Given the description of an element on the screen output the (x, y) to click on. 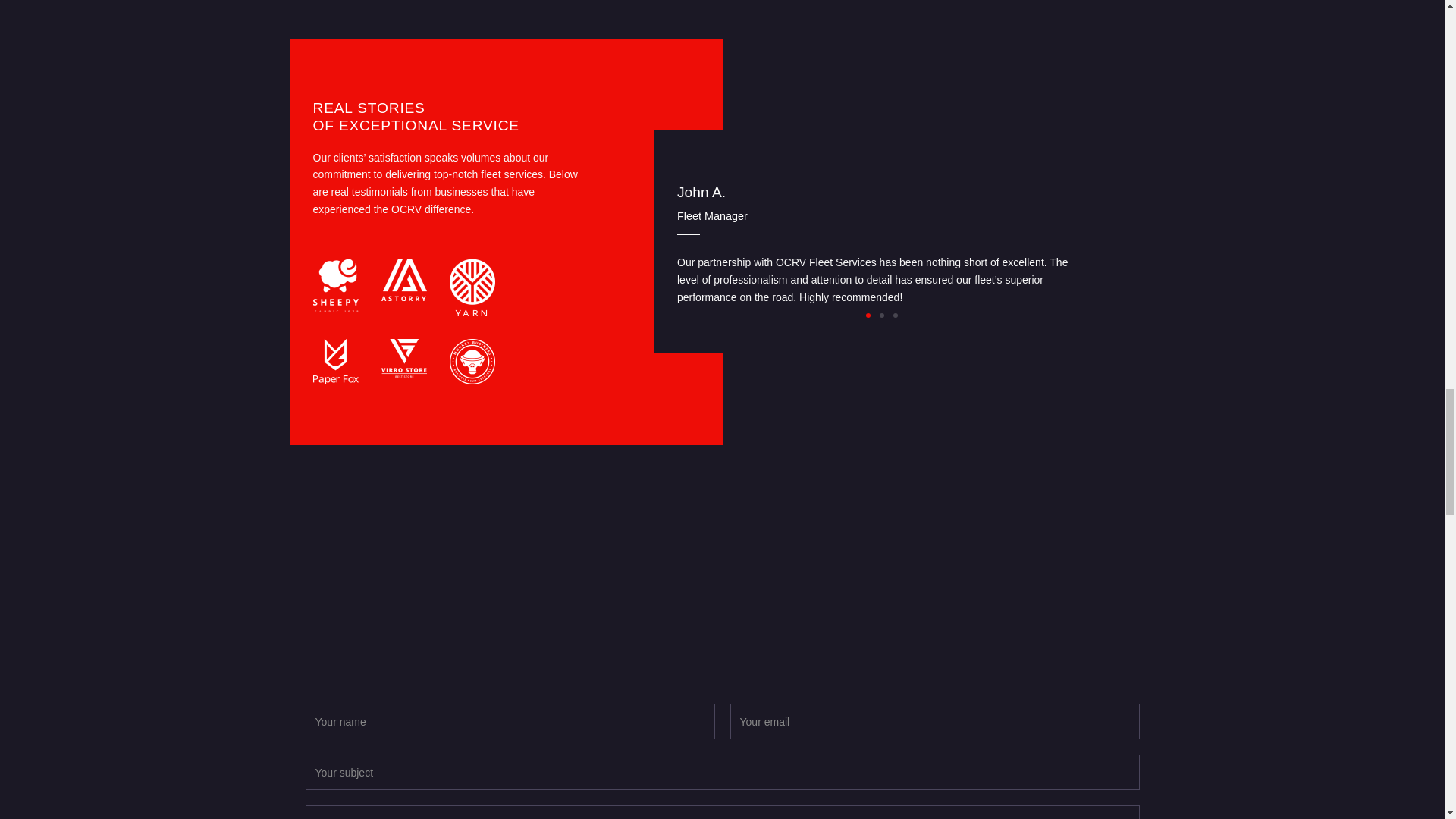
g820.png (471, 361)
text2622.png (403, 280)
text154.png (403, 358)
text2870.png (335, 361)
Submit (722, 753)
